Given the description of an element on the screen output the (x, y) to click on. 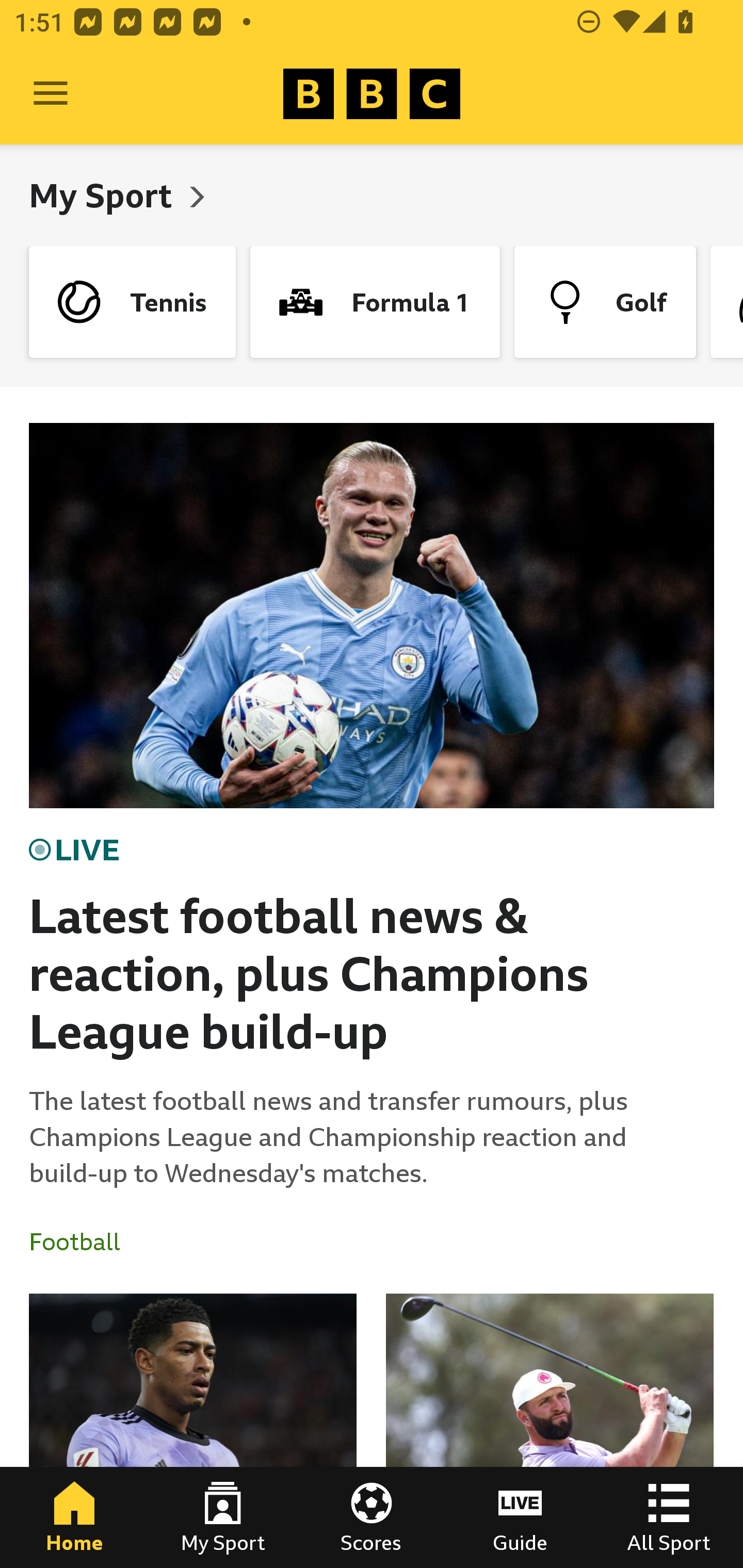
Open Menu (50, 93)
My Sport (104, 195)
Football In the section Football (81, 1241)
Real midfielder Bellingham banned for two games (192, 1430)
My Sport (222, 1517)
Scores (371, 1517)
Guide (519, 1517)
All Sport (668, 1517)
